Given the description of an element on the screen output the (x, y) to click on. 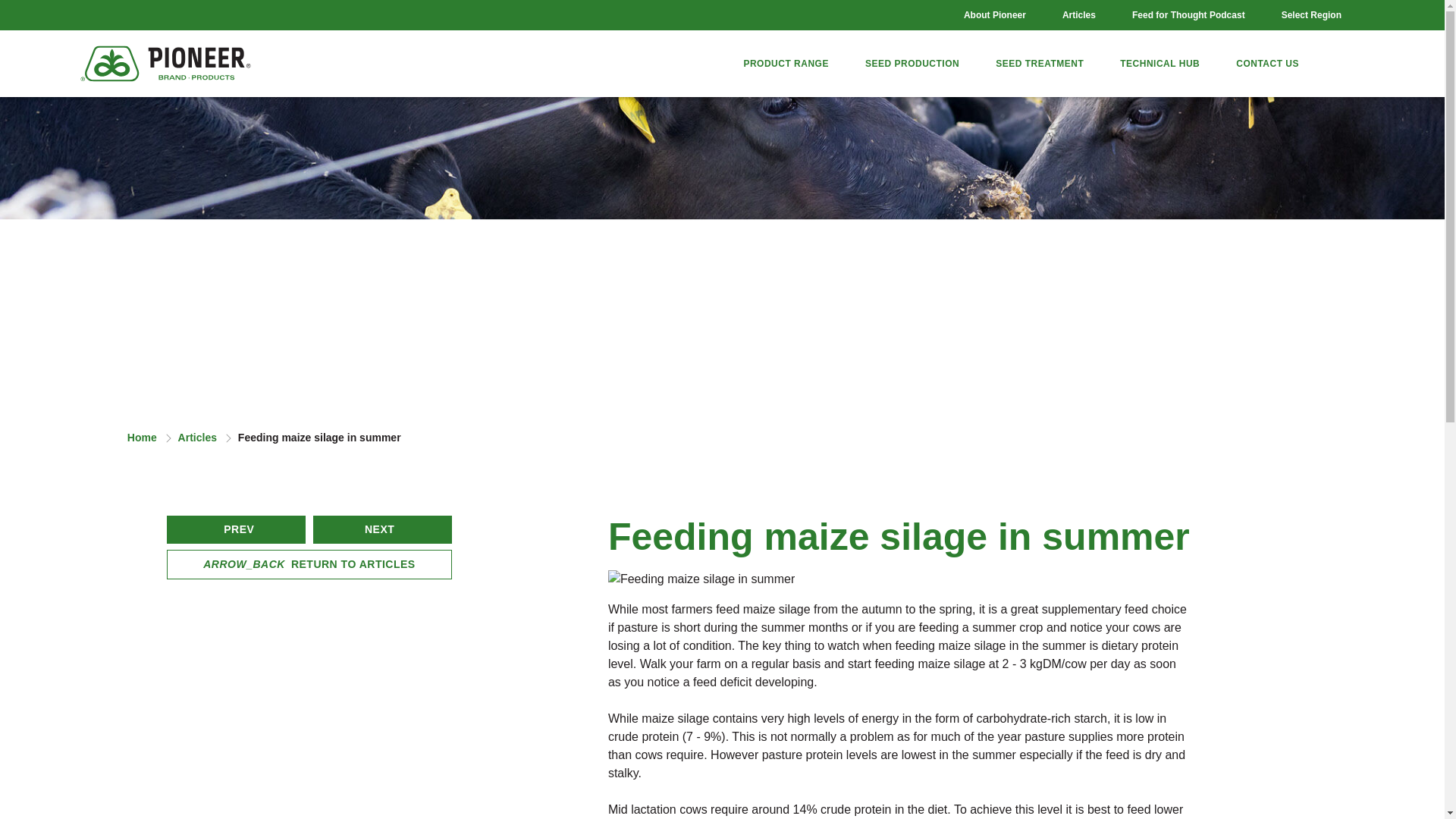
Articles (1078, 15)
Select Region (1311, 15)
TECHNICAL HUB (1159, 63)
SEED PRODUCTION (911, 63)
About Pioneer (993, 15)
SEED TREATMENT (1039, 63)
PRODUCT RANGE (786, 63)
Feed for Thought Podcast (1188, 15)
